Given the description of an element on the screen output the (x, y) to click on. 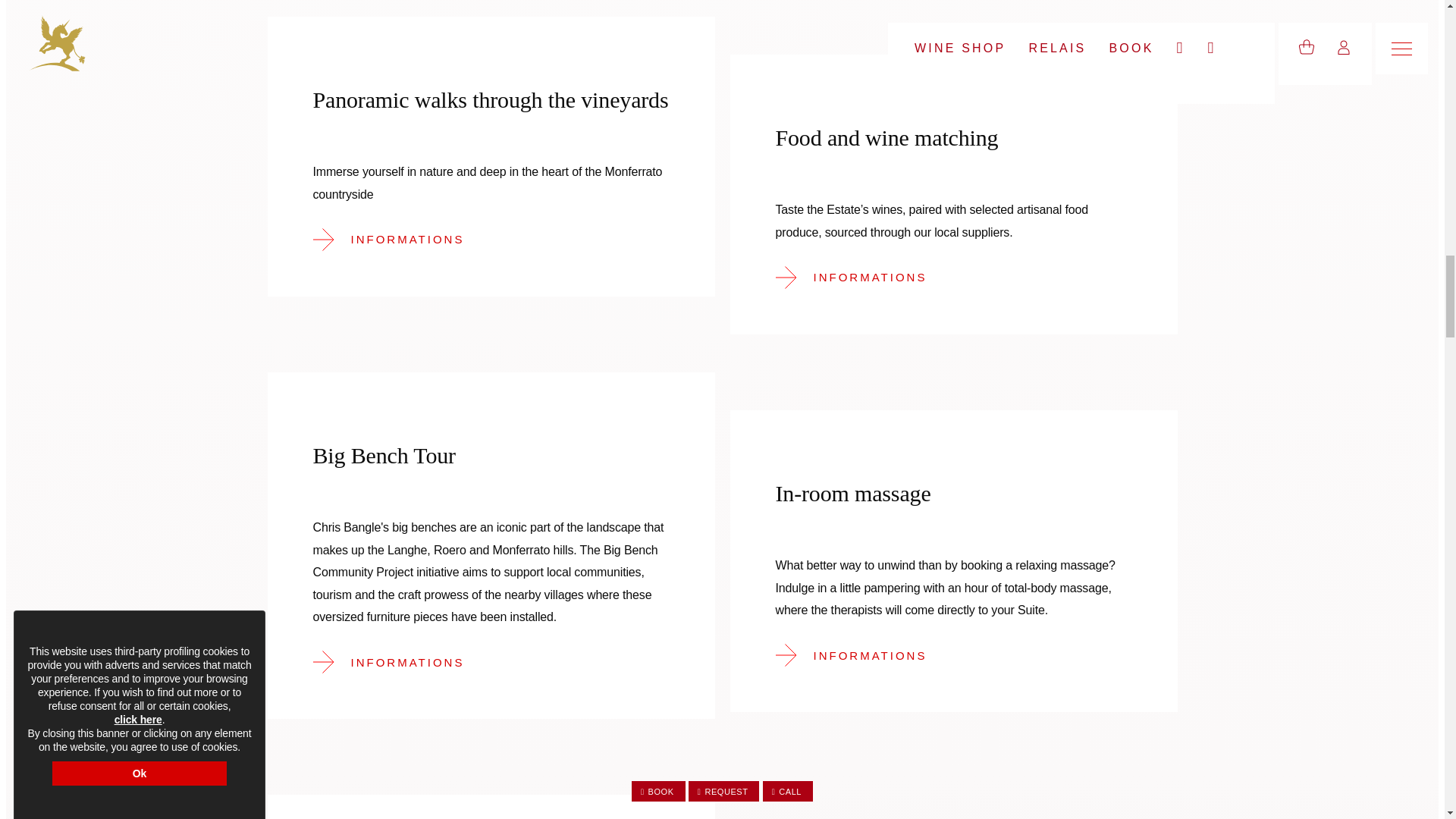
INFORMATIONS (861, 277)
INFORMATIONS (399, 238)
INFORMATIONS (861, 655)
INFORMATIONS (399, 662)
